Given the description of an element on the screen output the (x, y) to click on. 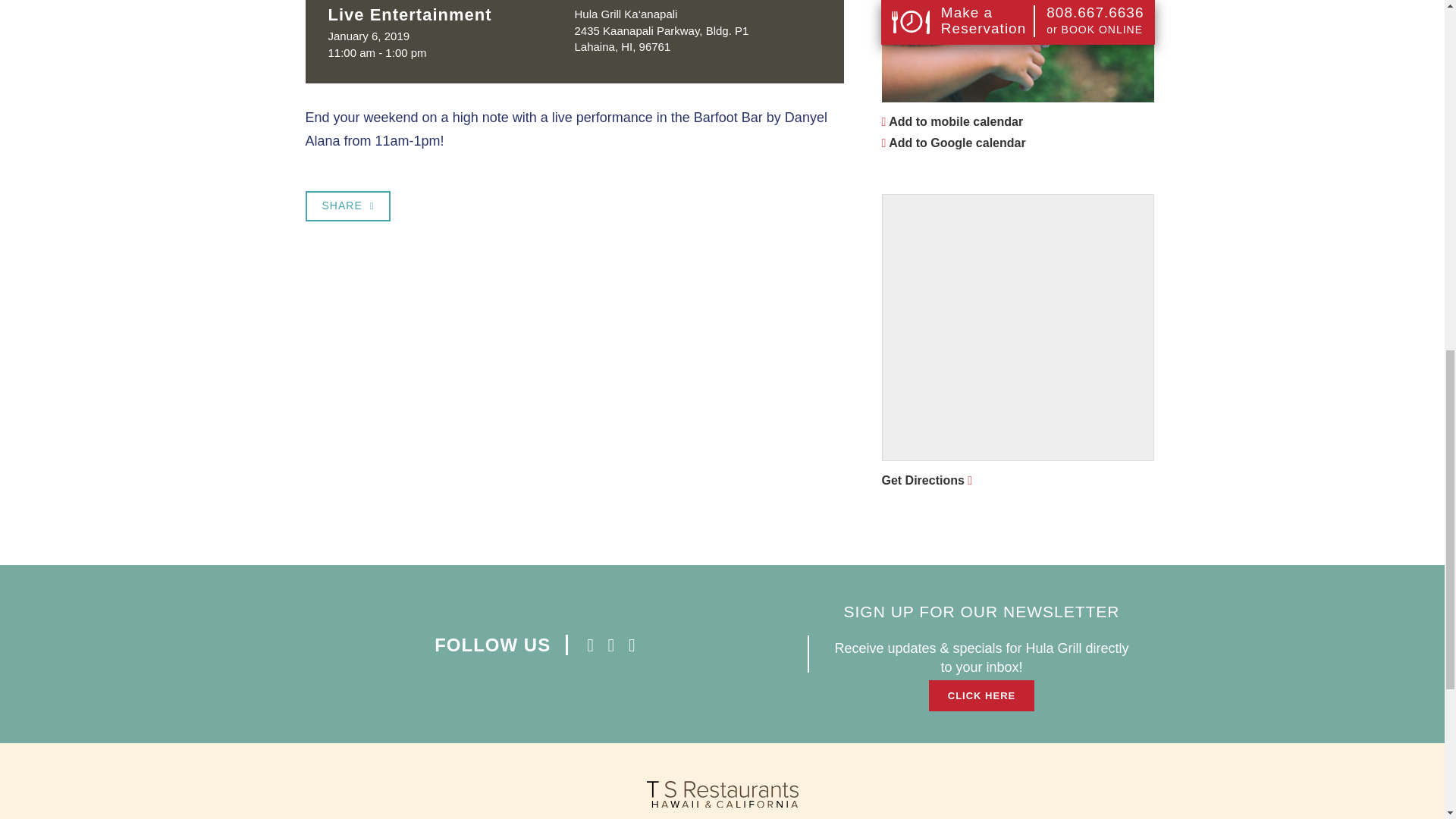
Add to Google calendar (1017, 143)
SHARE (347, 204)
Add to mobile calendar (1017, 122)
CLICK HERE (981, 695)
SHARE (347, 205)
